Given the description of an element on the screen output the (x, y) to click on. 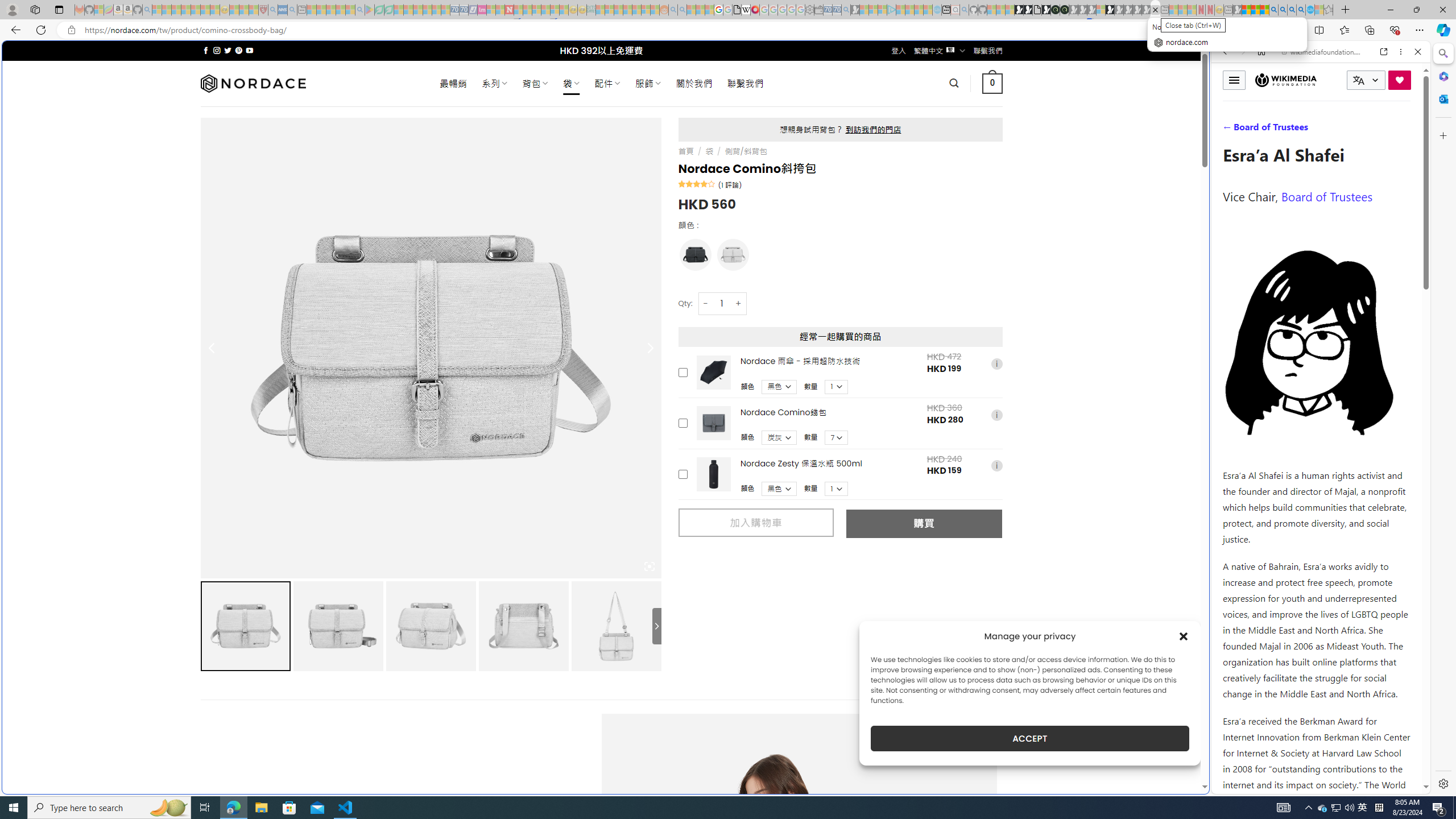
Class: i icon icon-translate language-switcher__icon (1358, 80)
This site scope (1259, 102)
Search (1442, 53)
Split screen (1318, 29)
utah sues federal government - Search - Sleeping (291, 9)
Read aloud this page (Ctrl+Shift+U) (1266, 29)
google - Search - Sleeping (359, 9)
- (705, 303)
Collections (1369, 29)
